Given the description of an element on the screen output the (x, y) to click on. 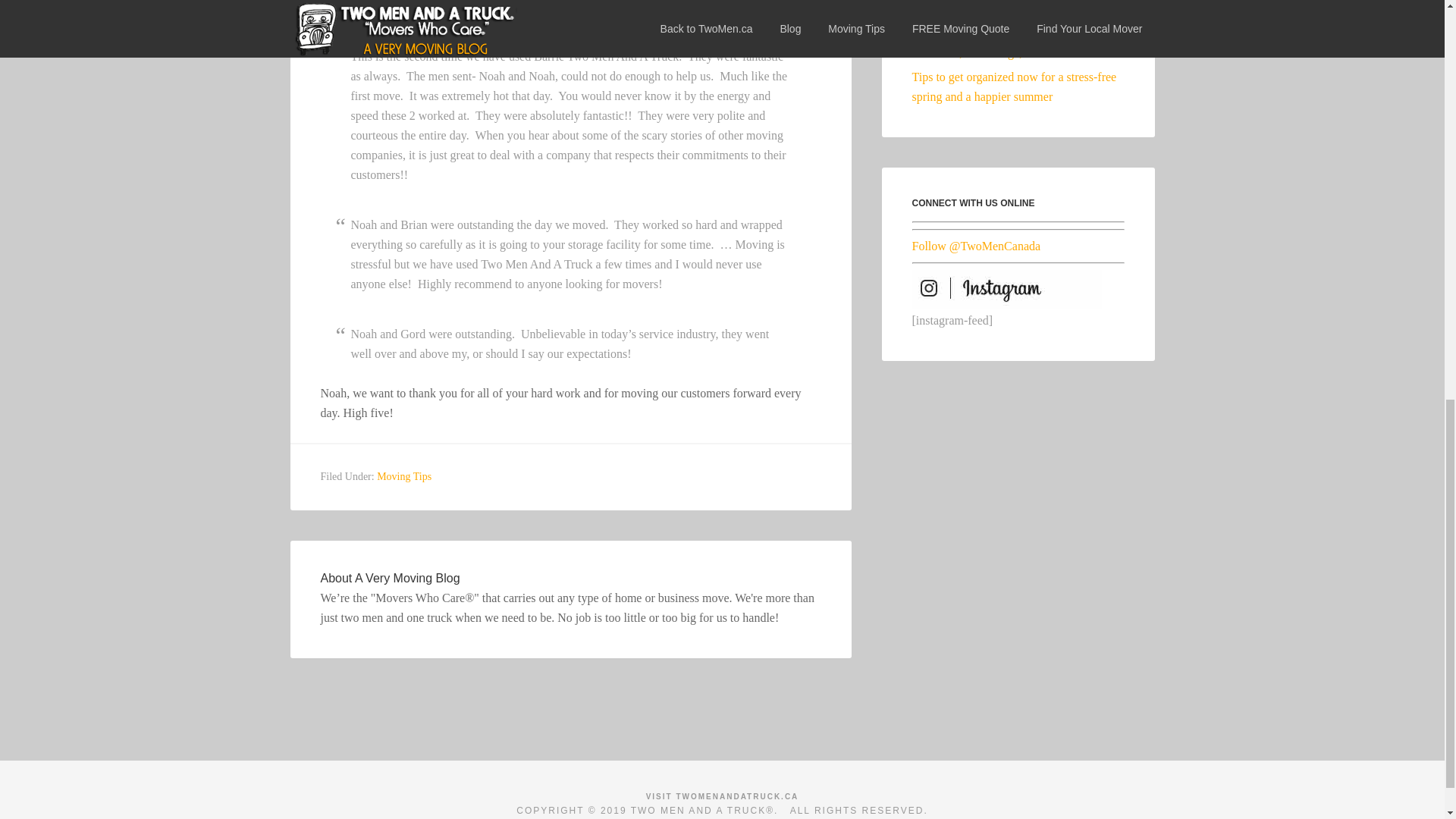
Moving Tips (403, 476)
VISIT TWOMENANDATRUCK.CA (722, 796)
local movers- TWO MEN AND A TRUCK (722, 796)
